Given the description of an element on the screen output the (x, y) to click on. 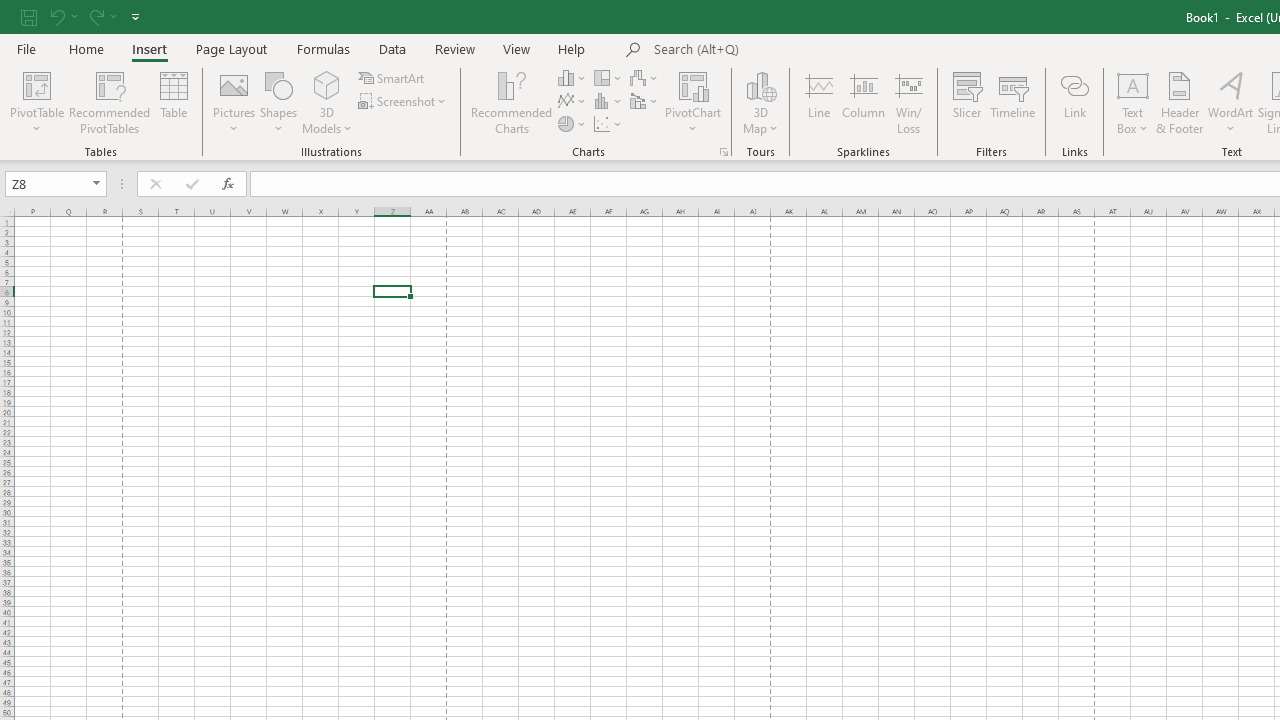
3D Models (326, 84)
WordArt (1230, 102)
Screenshot (403, 101)
Insert Pie or Doughnut Chart (573, 124)
Insert Statistic Chart (609, 101)
Timeline (1013, 102)
Table (173, 102)
Insert Combo Chart (645, 101)
PivotChart (693, 102)
Insert Line or Area Chart (573, 101)
PivotTable (36, 84)
